Given the description of an element on the screen output the (x, y) to click on. 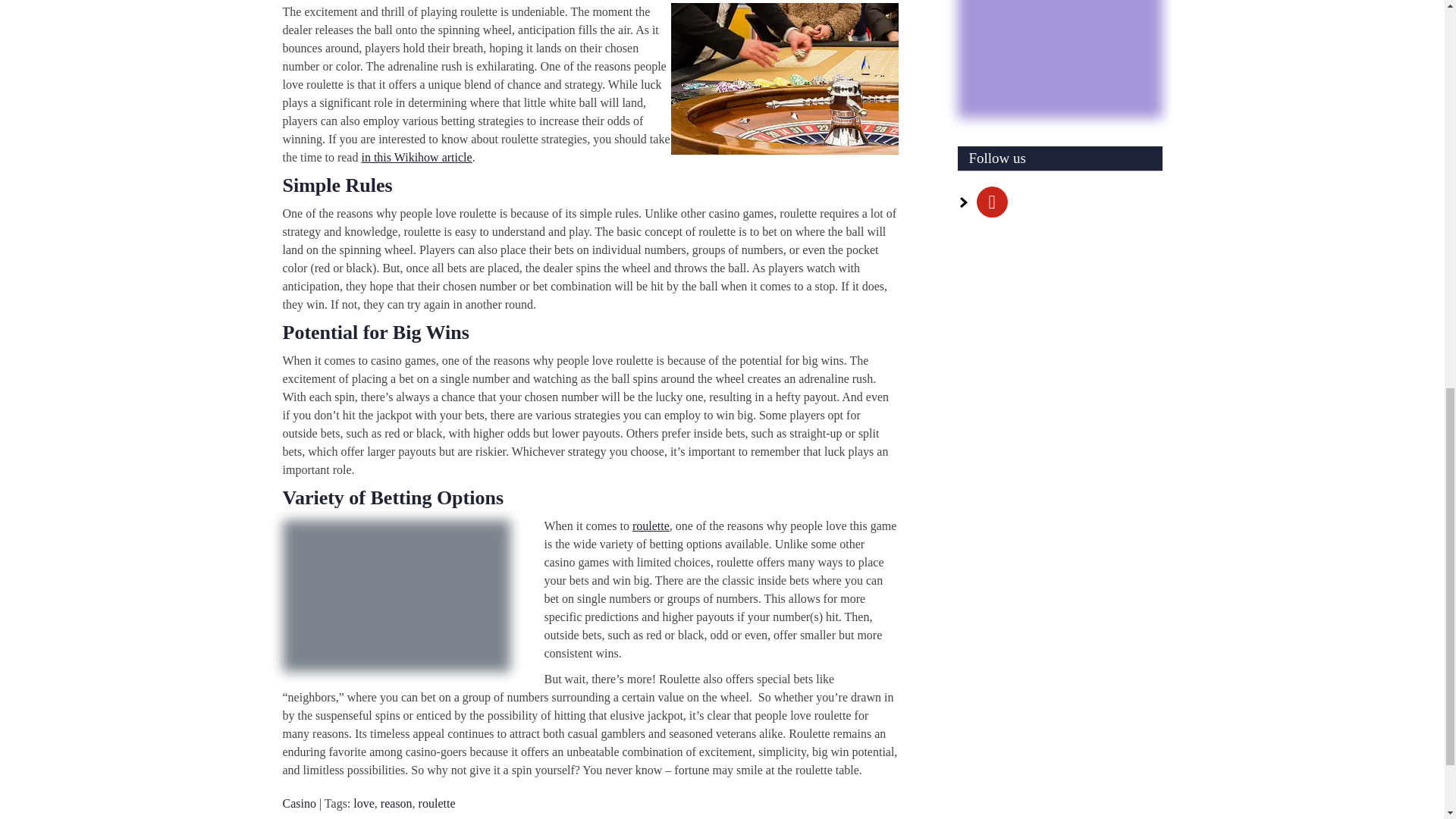
love (363, 802)
reason (396, 802)
roulette (437, 802)
roulette (650, 525)
pinterest (991, 200)
Casino (298, 802)
Facebook (991, 200)
in this Wikihow article (416, 156)
